Given the description of an element on the screen output the (x, y) to click on. 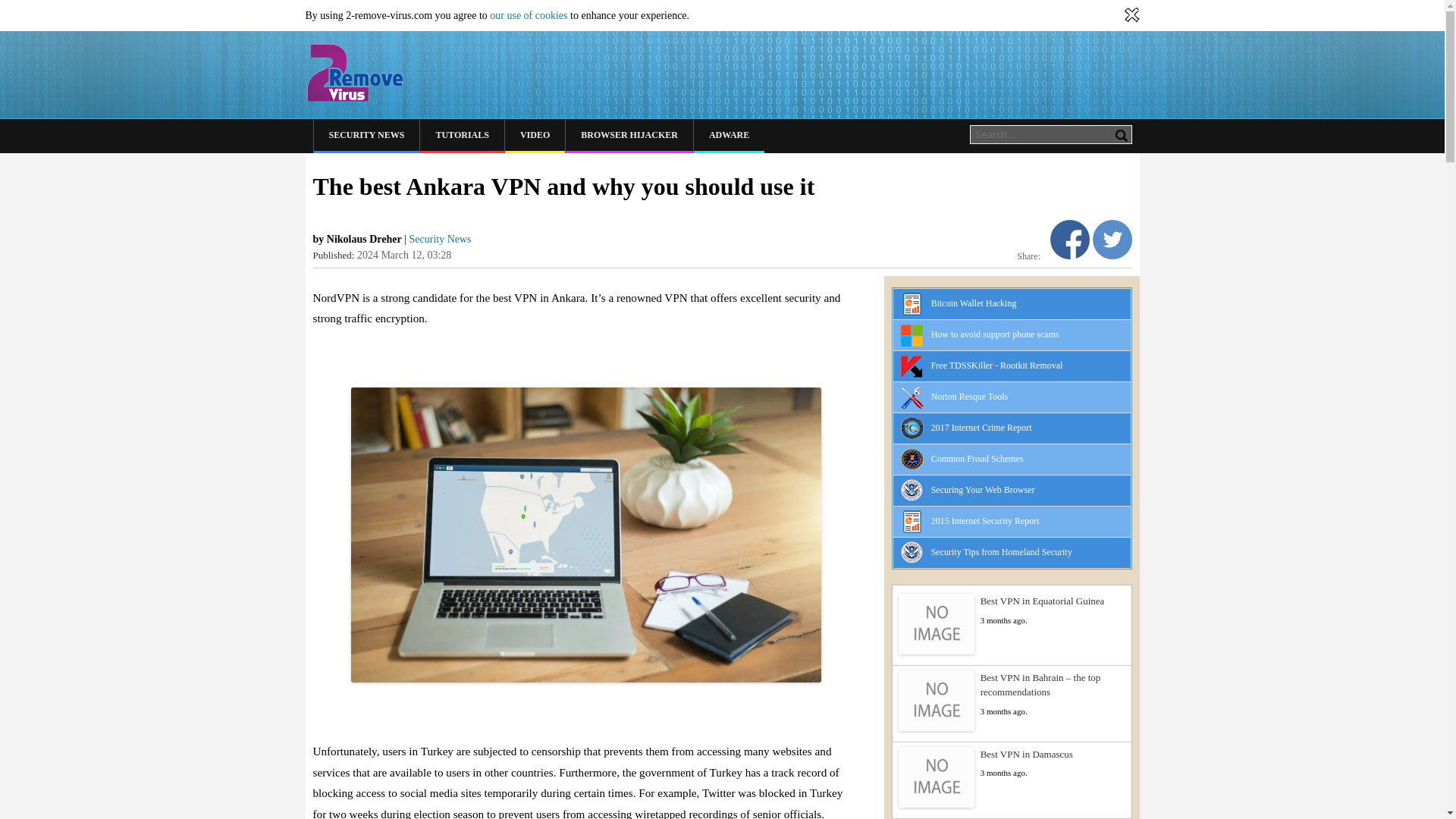
Norton Resque Tools (970, 396)
SECURITY NEWS (367, 135)
our use of cookies (528, 15)
Bitcoin Wallet Hacking (973, 303)
2015 Internet Security Report (985, 520)
2 Remove Virus (353, 72)
Search (1120, 135)
2 Remove Virus (353, 72)
ADWARE (729, 135)
Security Tips from Homeland Security (1001, 552)
2017 Internet Crime Report (981, 427)
TUTORIALS (461, 135)
Best VPN in Damascus (1011, 754)
Free TDSSKiller - Rootkit Removal (996, 365)
VIDEO (534, 135)
